Given the description of an element on the screen output the (x, y) to click on. 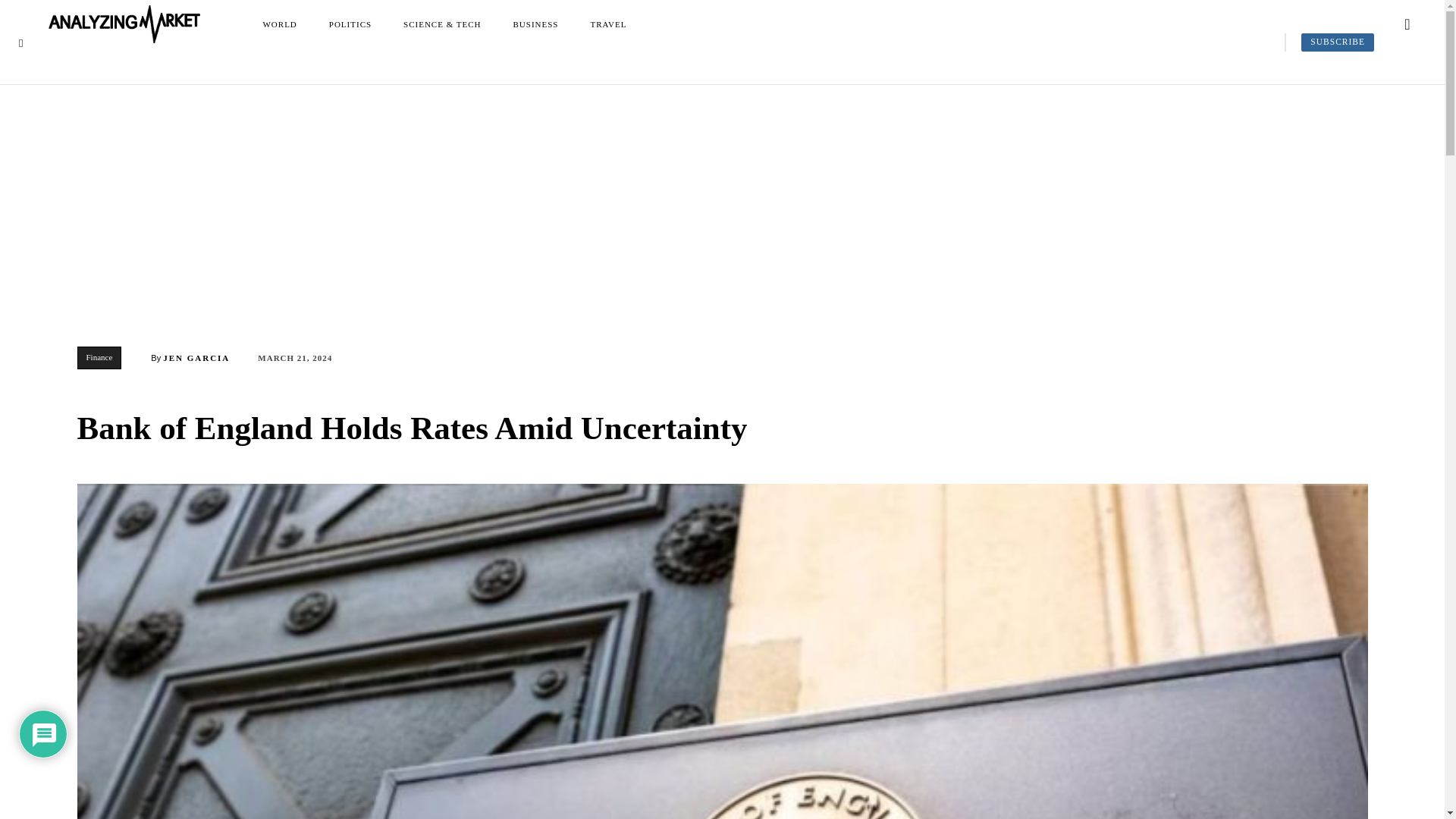
SUBSCRIBE (1337, 42)
